Given the description of an element on the screen output the (x, y) to click on. 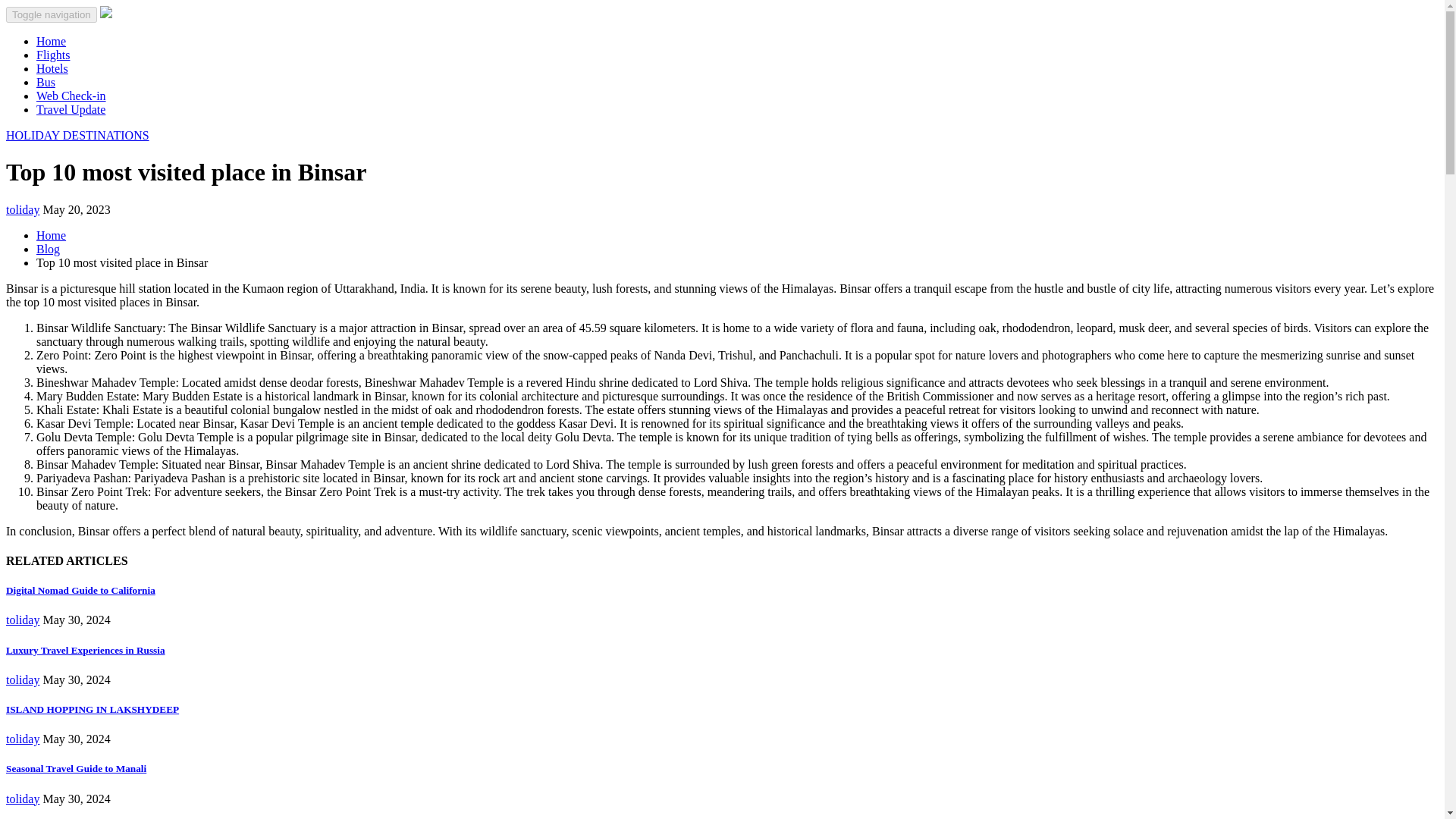
Hotels (52, 68)
toliday (22, 738)
Home (50, 41)
ISLAND HOPPING IN LAKSHYDEEP (92, 708)
Web Check-in (71, 95)
Home (50, 41)
Digital Nomad Guide to California (80, 590)
Flights (52, 54)
Bus (45, 82)
Luxury Travel Experiences in Russia (85, 650)
